Given the description of an element on the screen output the (x, y) to click on. 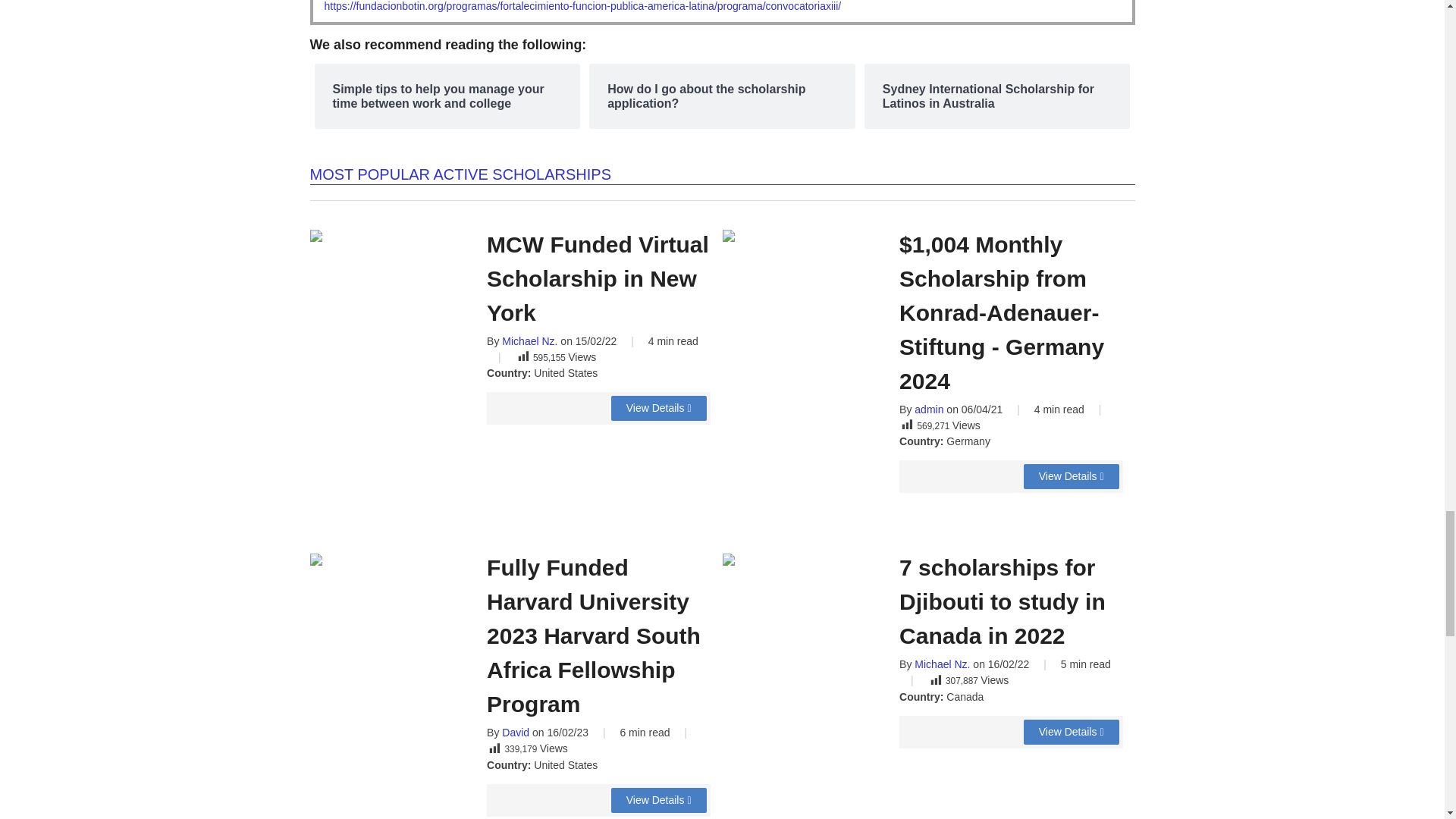
MCW Funded Virtual Scholarship in New York (658, 407)
7 scholarships for Djibouti to study in Canada in 2022 (1071, 731)
